Given the description of an element on the screen output the (x, y) to click on. 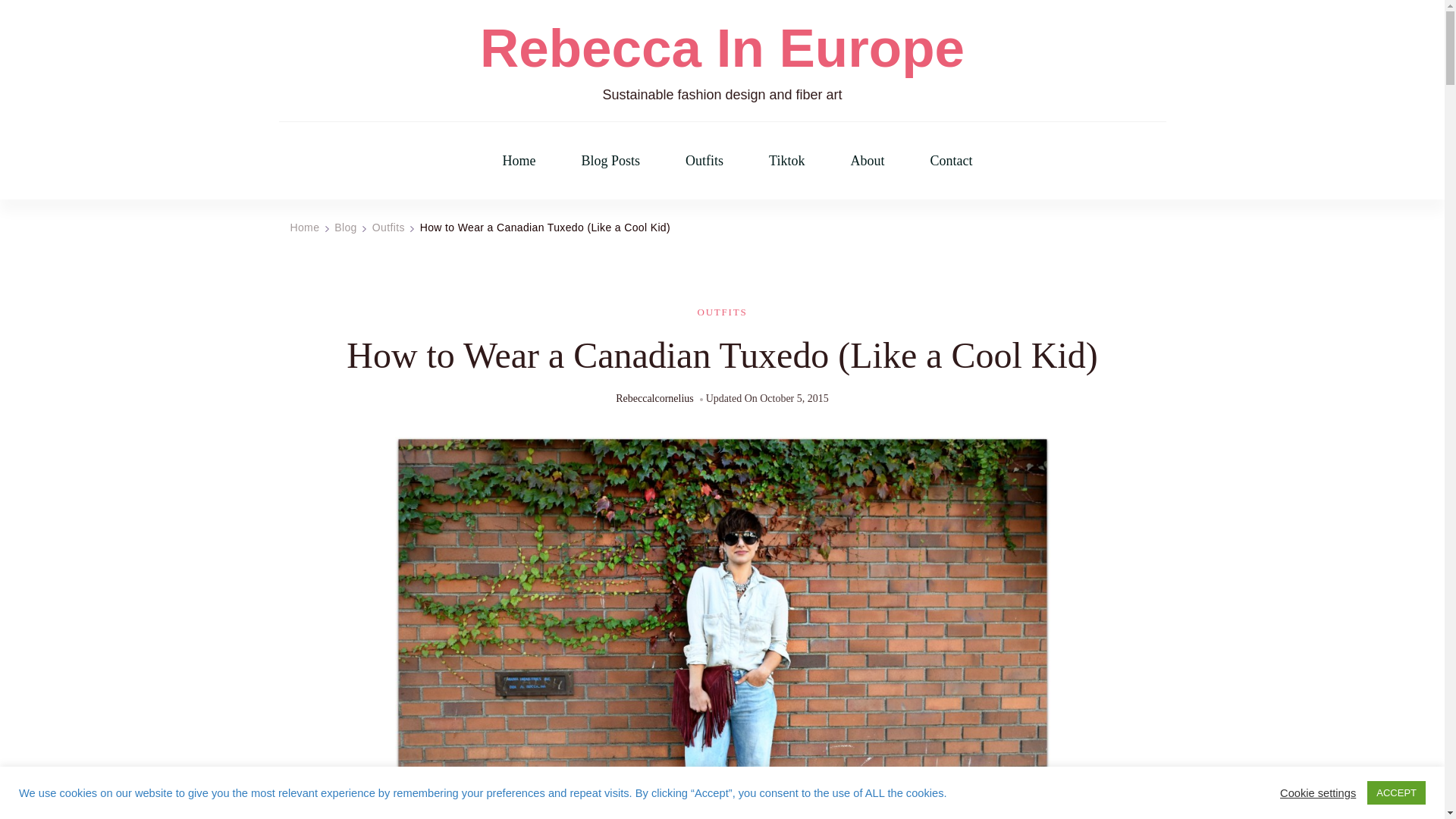
Tiktok (786, 160)
Home (303, 227)
Home (518, 160)
Blog (345, 227)
Blog Posts (610, 160)
October 5, 2015 (794, 398)
Rebeccalcornelius (654, 398)
Outfits (388, 227)
OUTFITS (721, 312)
Rebecca In Europe (721, 48)
